Given the description of an element on the screen output the (x, y) to click on. 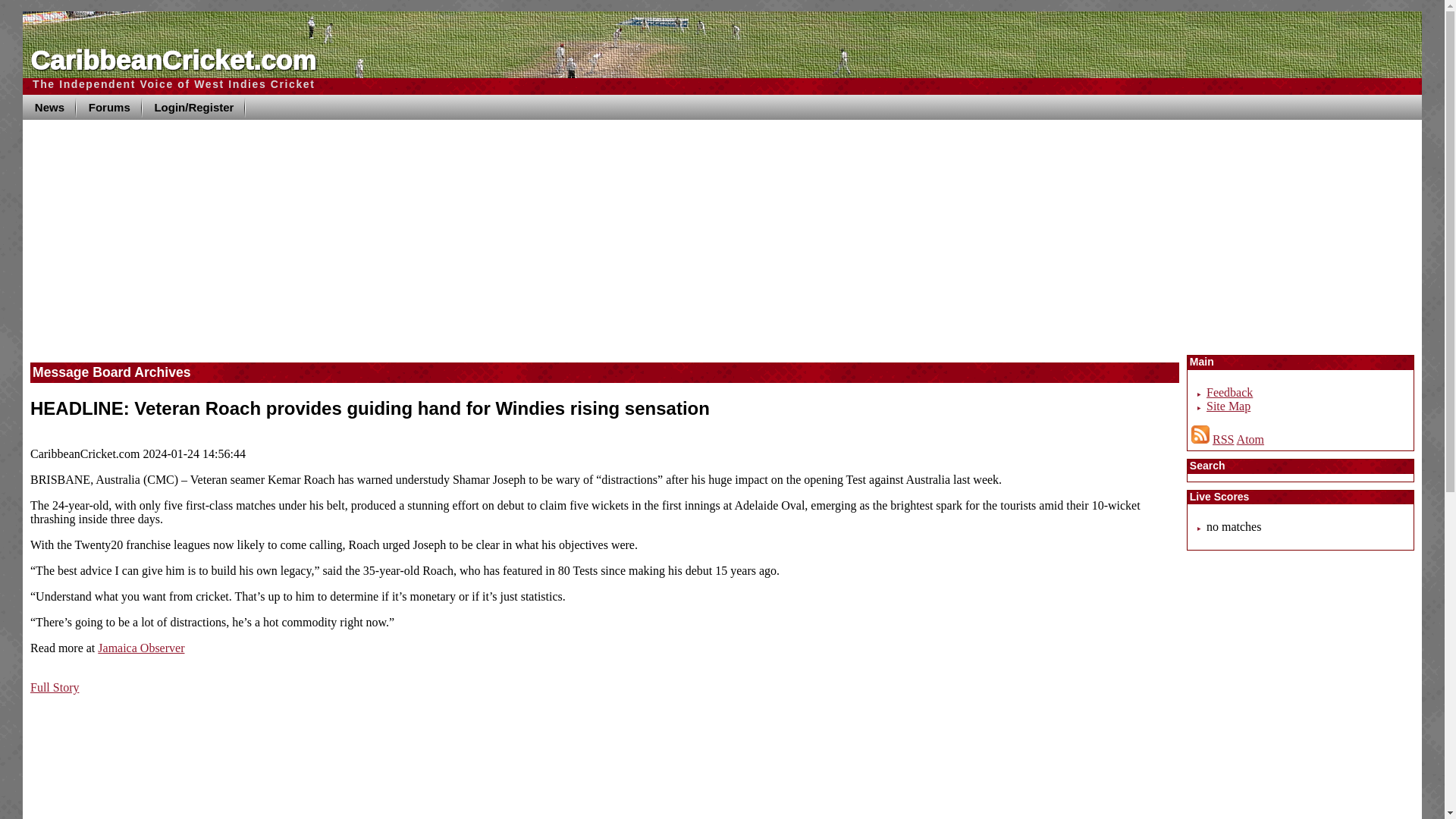
RSS (1222, 439)
Jamaica Observer (140, 647)
Feedback (1229, 391)
Atom (1249, 439)
CaribbeanCricket.com (172, 60)
Forums (109, 107)
Full Story (54, 686)
Site Map (1228, 405)
News (50, 107)
